Given the description of an element on the screen output the (x, y) to click on. 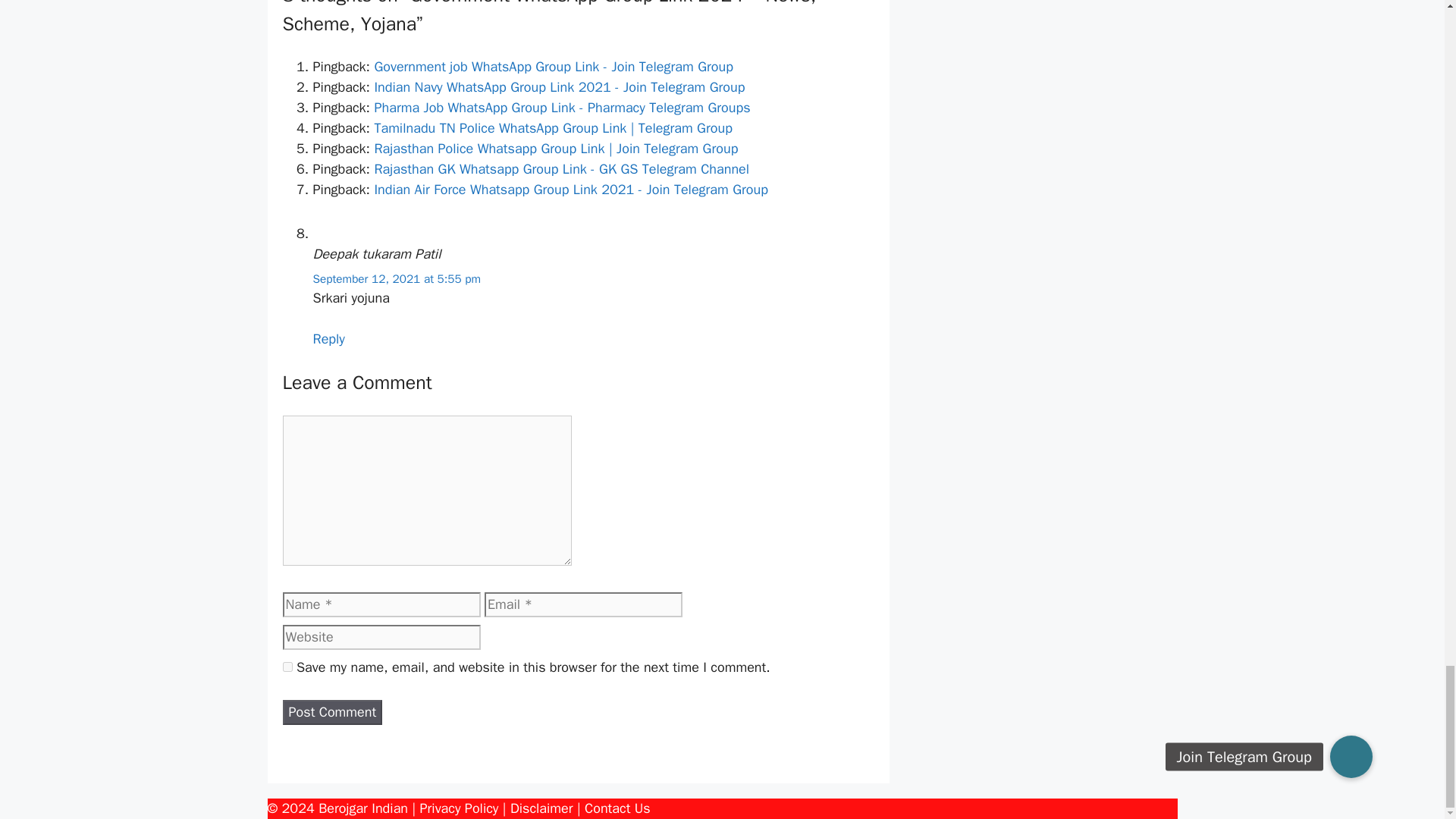
Government job WhatsApp Group Link - Join Telegram Group (553, 66)
Pharma Job WhatsApp Group Link - Pharmacy Telegram Groups (561, 107)
Reply (328, 338)
Indian Navy WhatsApp Group Link 2021 - Join Telegram Group (559, 86)
September 12, 2021 at 5:55 pm (396, 278)
Post Comment (331, 712)
Rajasthan GK Whatsapp Group Link - GK GS Telegram Channel (561, 168)
yes (287, 666)
